Given the description of an element on the screen output the (x, y) to click on. 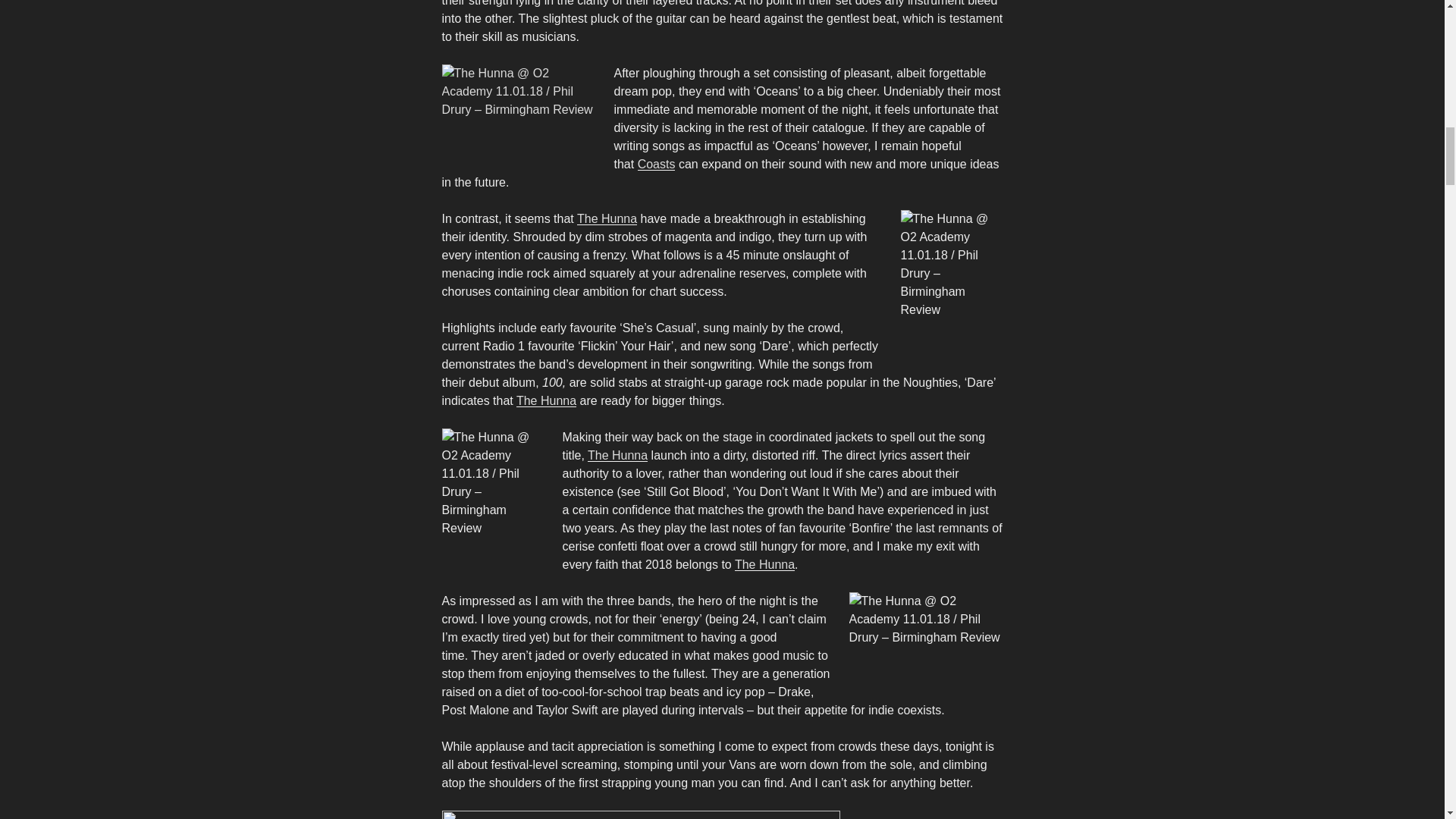
Coasts (656, 164)
The Hunna (546, 400)
The Hunna (617, 454)
The Hunna (764, 563)
The Hunna (606, 218)
